Given the description of an element on the screen output the (x, y) to click on. 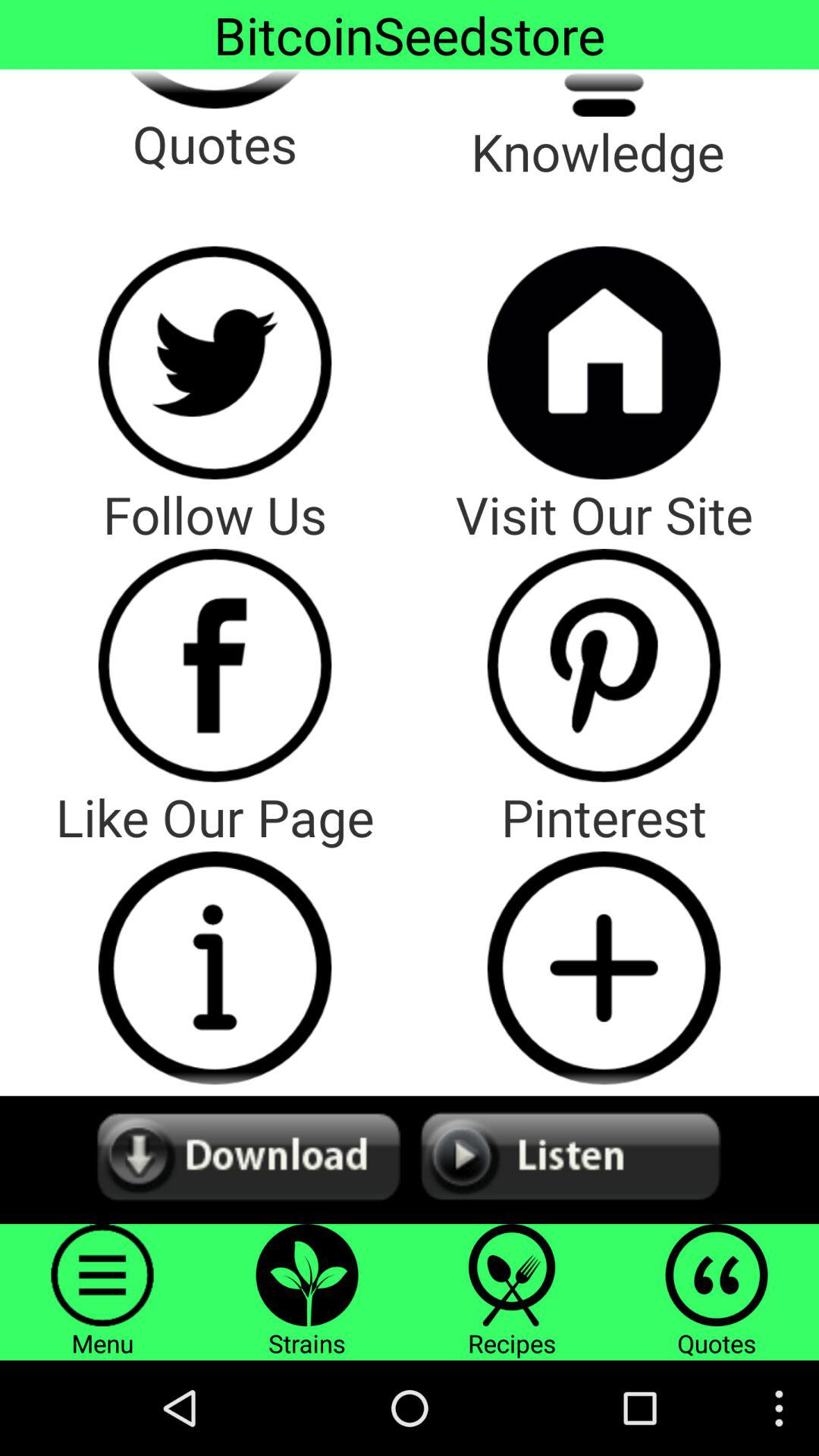
knowledge (603, 92)
